Given the description of an element on the screen output the (x, y) to click on. 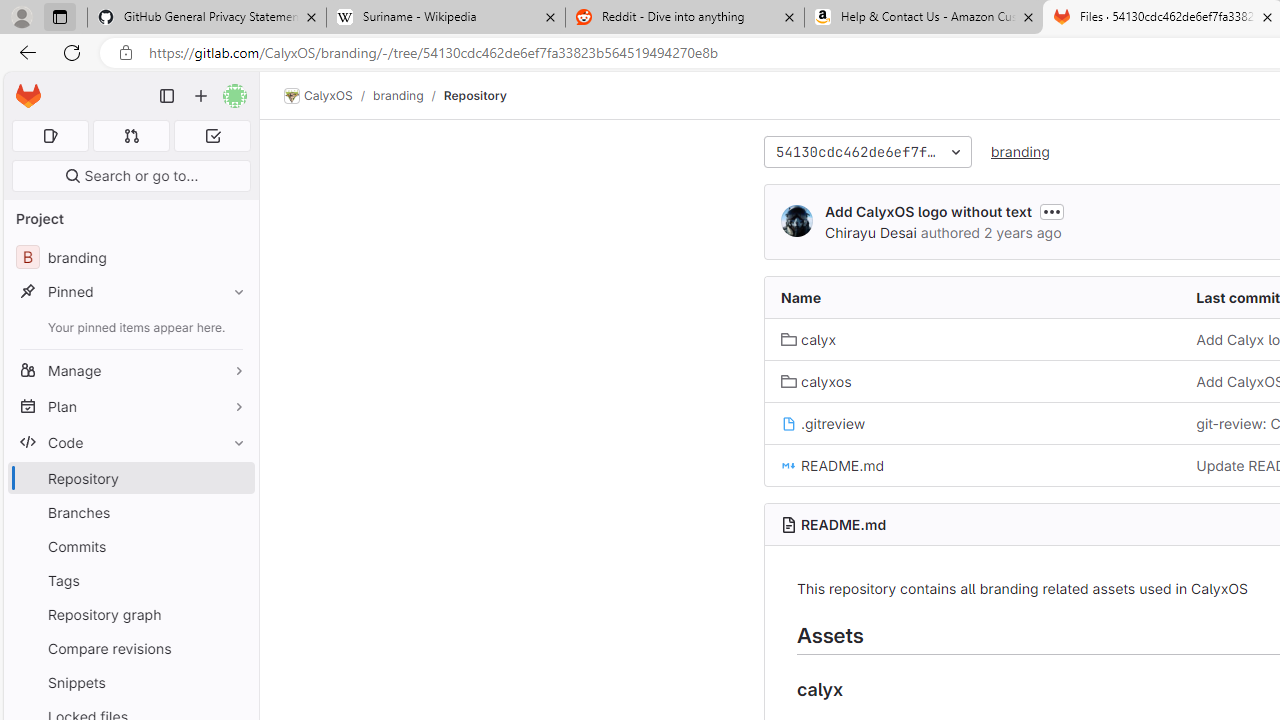
Branches (130, 512)
Toggle commit description (1051, 211)
README.md (973, 465)
calyx (973, 339)
Commits (130, 546)
GitHub General Privacy Statement - GitHub Docs (207, 17)
Tags (130, 579)
Chirayu Desai (870, 232)
Pin Branches (234, 511)
Suriname - Wikipedia (445, 17)
Primary navigation sidebar (167, 96)
Plan (130, 406)
